Given the description of an element on the screen output the (x, y) to click on. 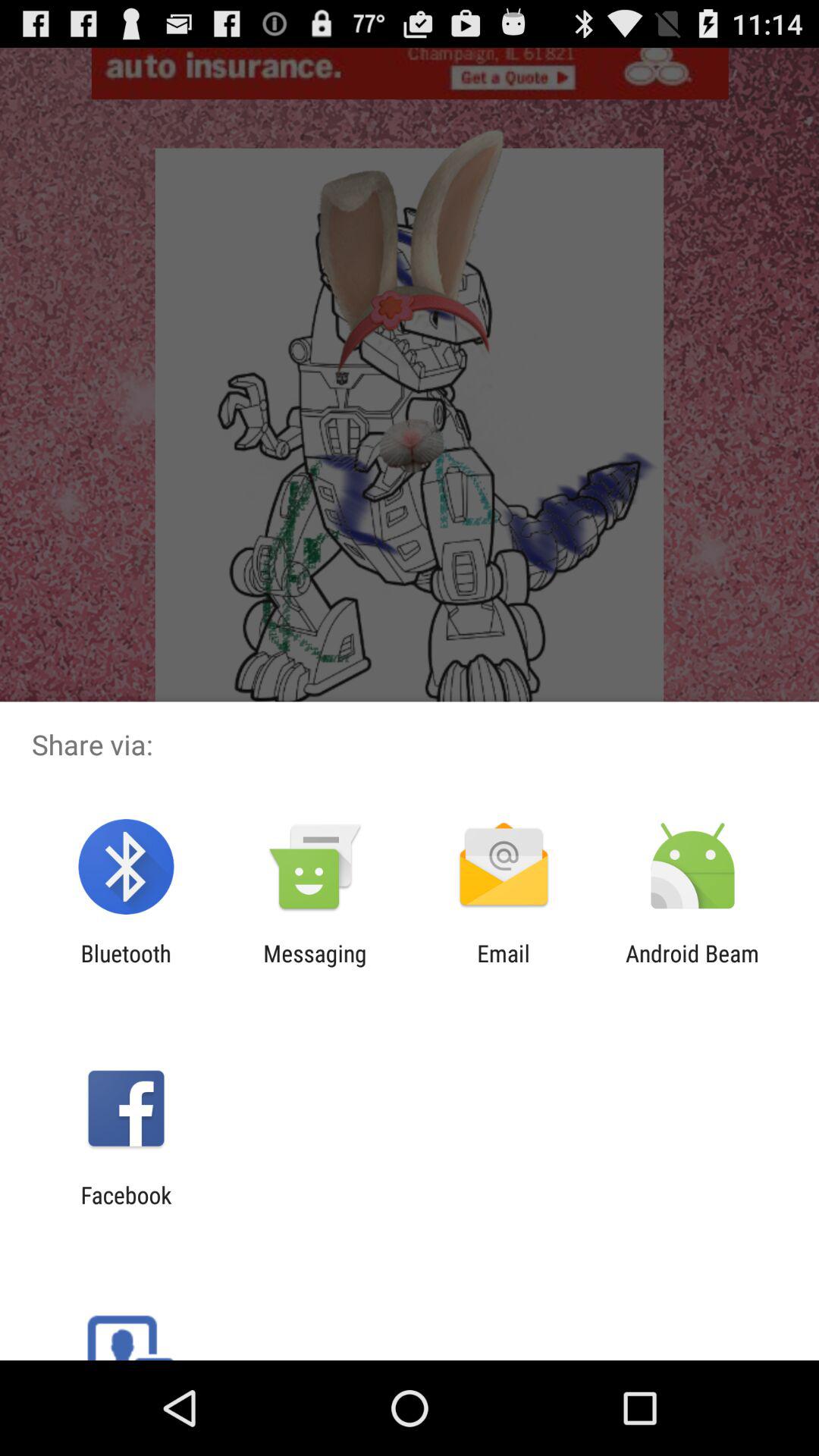
turn on facebook icon (125, 1208)
